Given the description of an element on the screen output the (x, y) to click on. 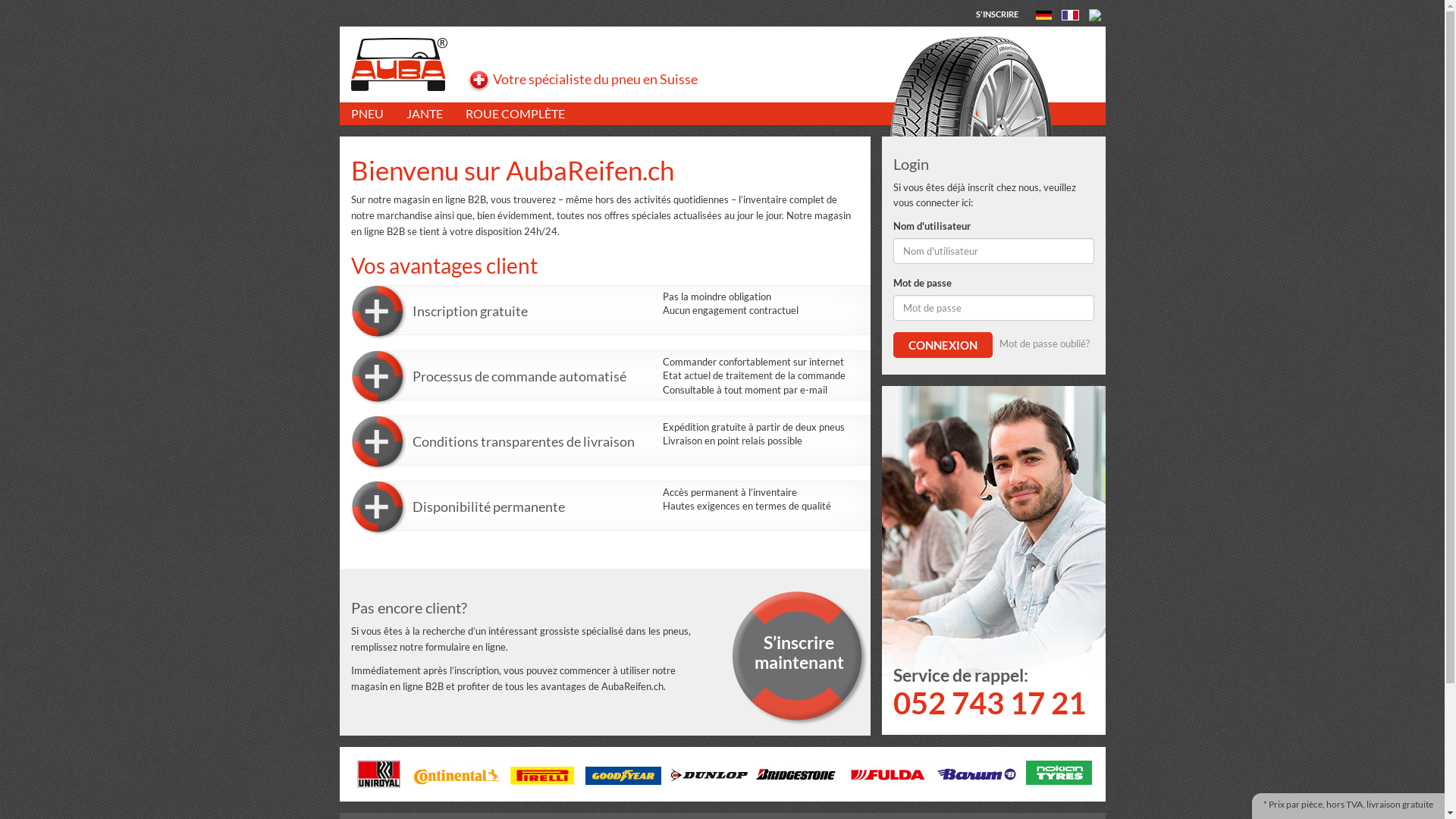
S'INSCRIRE Element type: text (996, 13)
PNEU Element type: text (367, 113)
CONNEXION Element type: text (942, 344)
JANTE Element type: text (423, 113)
